Given the description of an element on the screen output the (x, y) to click on. 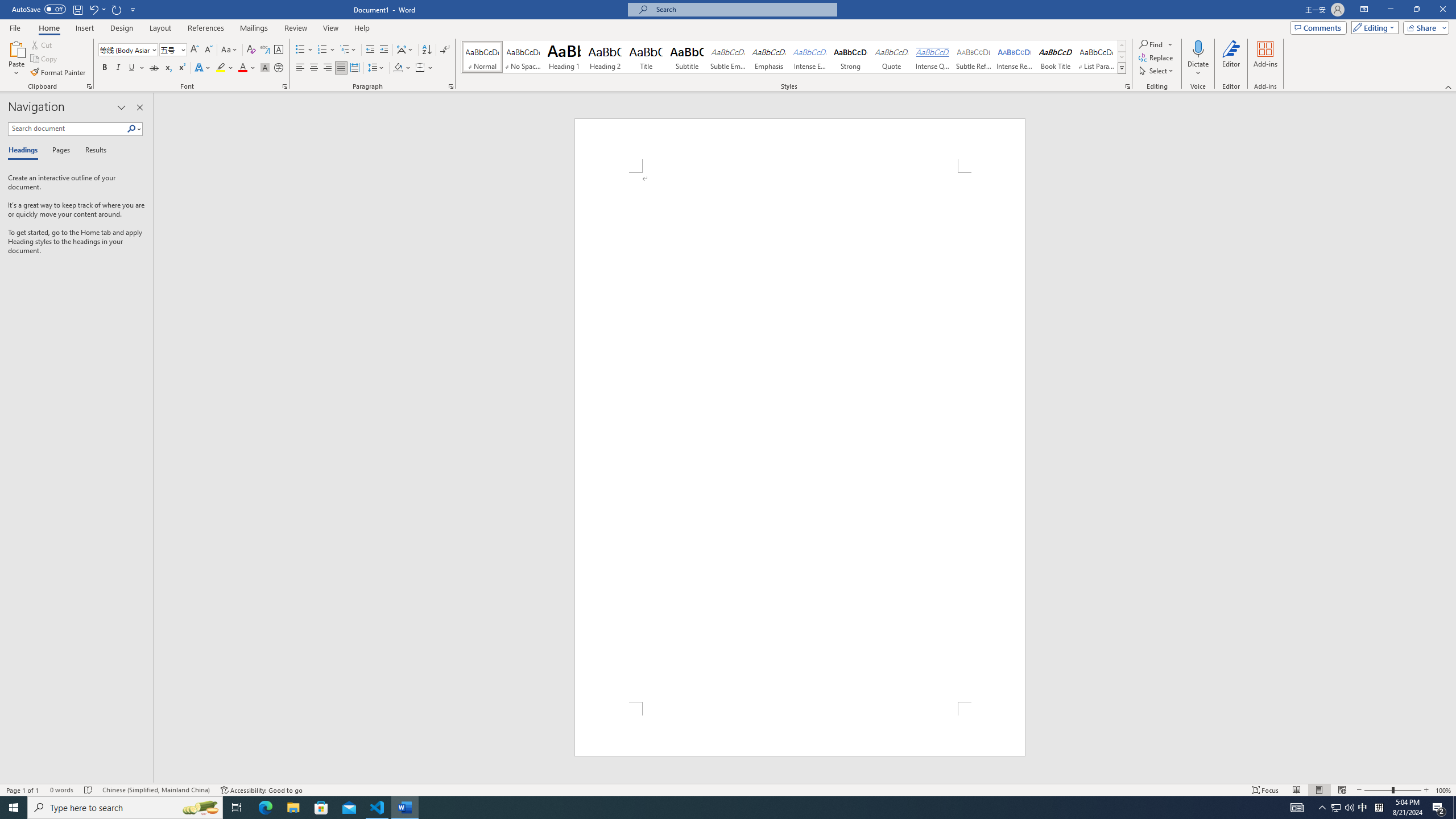
Font Color Red (241, 67)
Intense Reference (1014, 56)
Strong (849, 56)
